Given the description of an element on the screen output the (x, y) to click on. 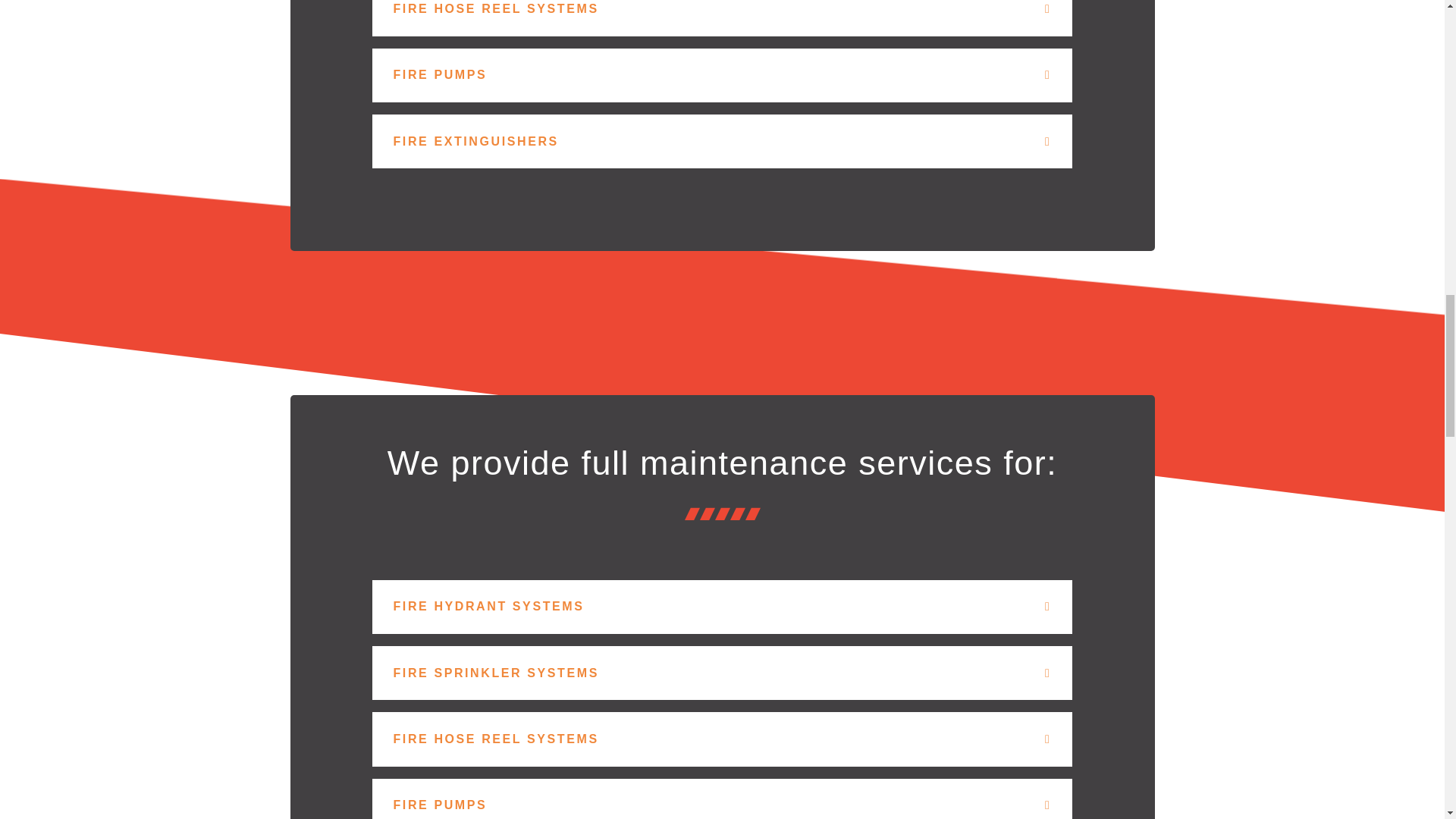
FIRE HYDRANT SYSTEMS (488, 605)
FIRE HOSE REEL SYSTEMS (495, 8)
FIRE EXTINGUISHERS (475, 141)
FIRE SPRINKLER SYSTEMS (495, 672)
FIRE PUMPS (439, 74)
FIRE PUMPS (439, 804)
FIRE HOSE REEL SYSTEMS (495, 738)
